Given the description of an element on the screen output the (x, y) to click on. 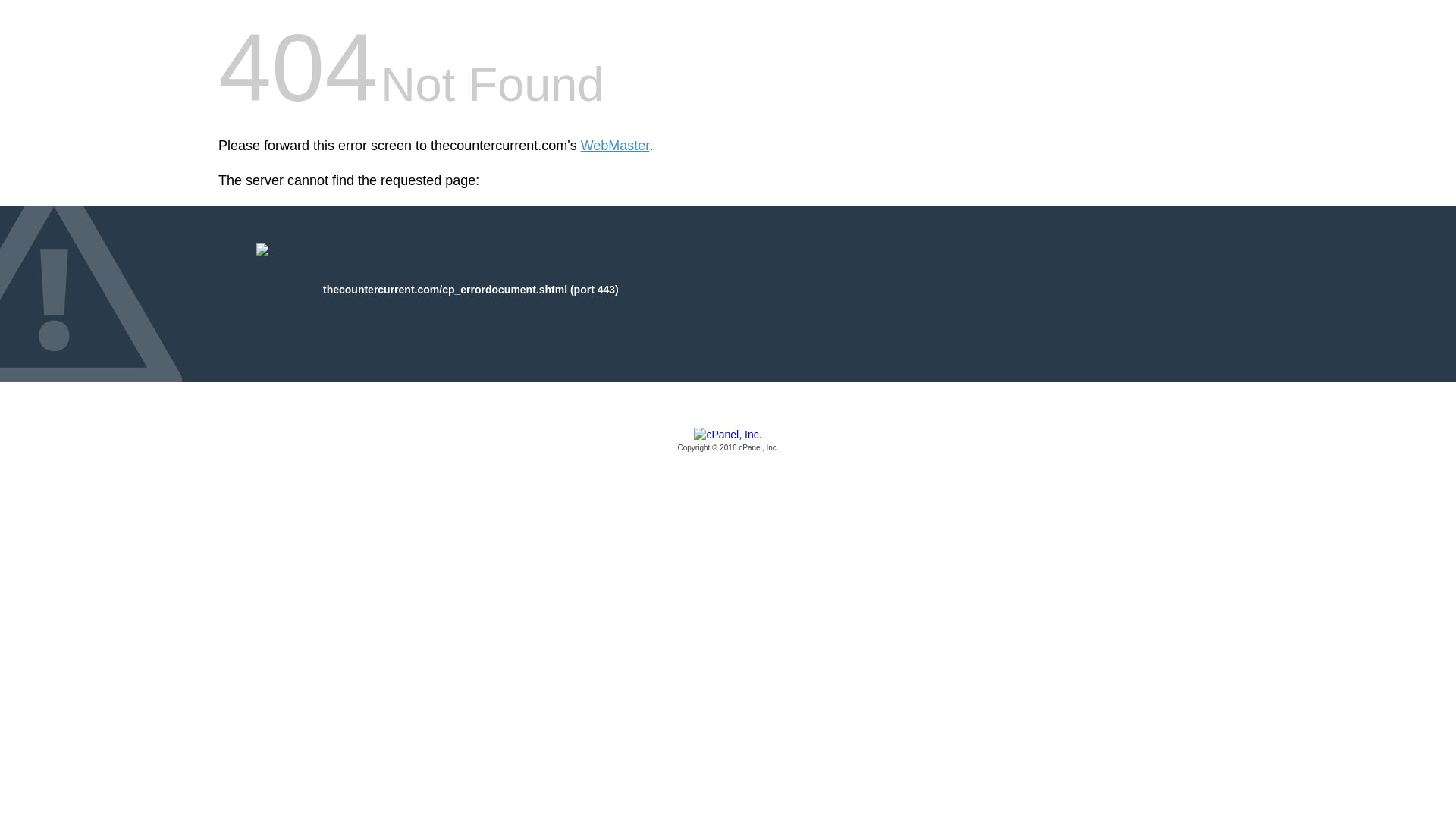
WebMaster (614, 145)
cPanel, Inc. (727, 440)
